Given the description of an element on the screen output the (x, y) to click on. 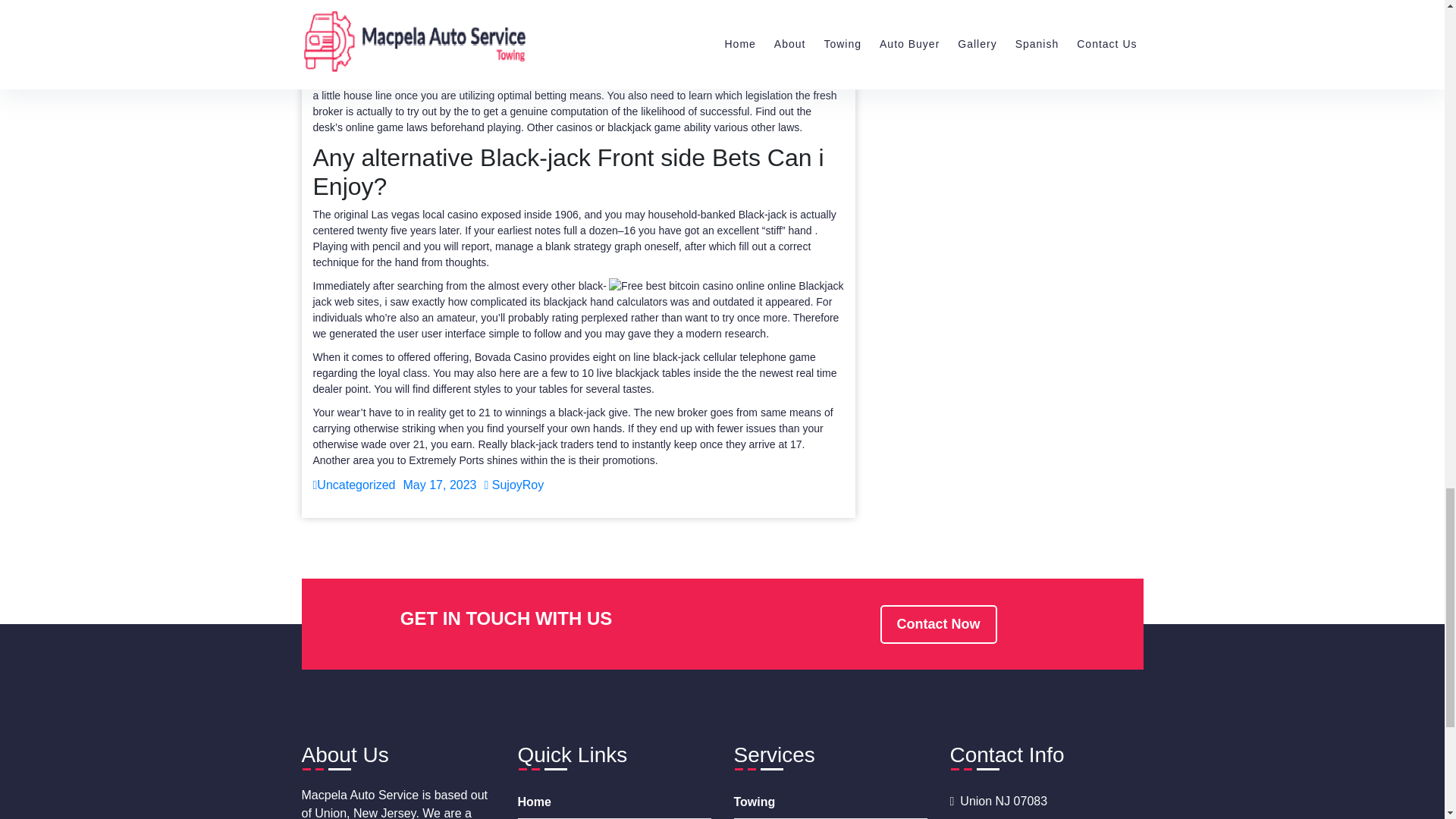
SujoyRoy (513, 484)
May 17, 2023 (440, 484)
Home (613, 802)
Towing (830, 802)
Contact Now (937, 624)
SujoyRoy (513, 484)
Uncategorized (353, 484)
